Given the description of an element on the screen output the (x, y) to click on. 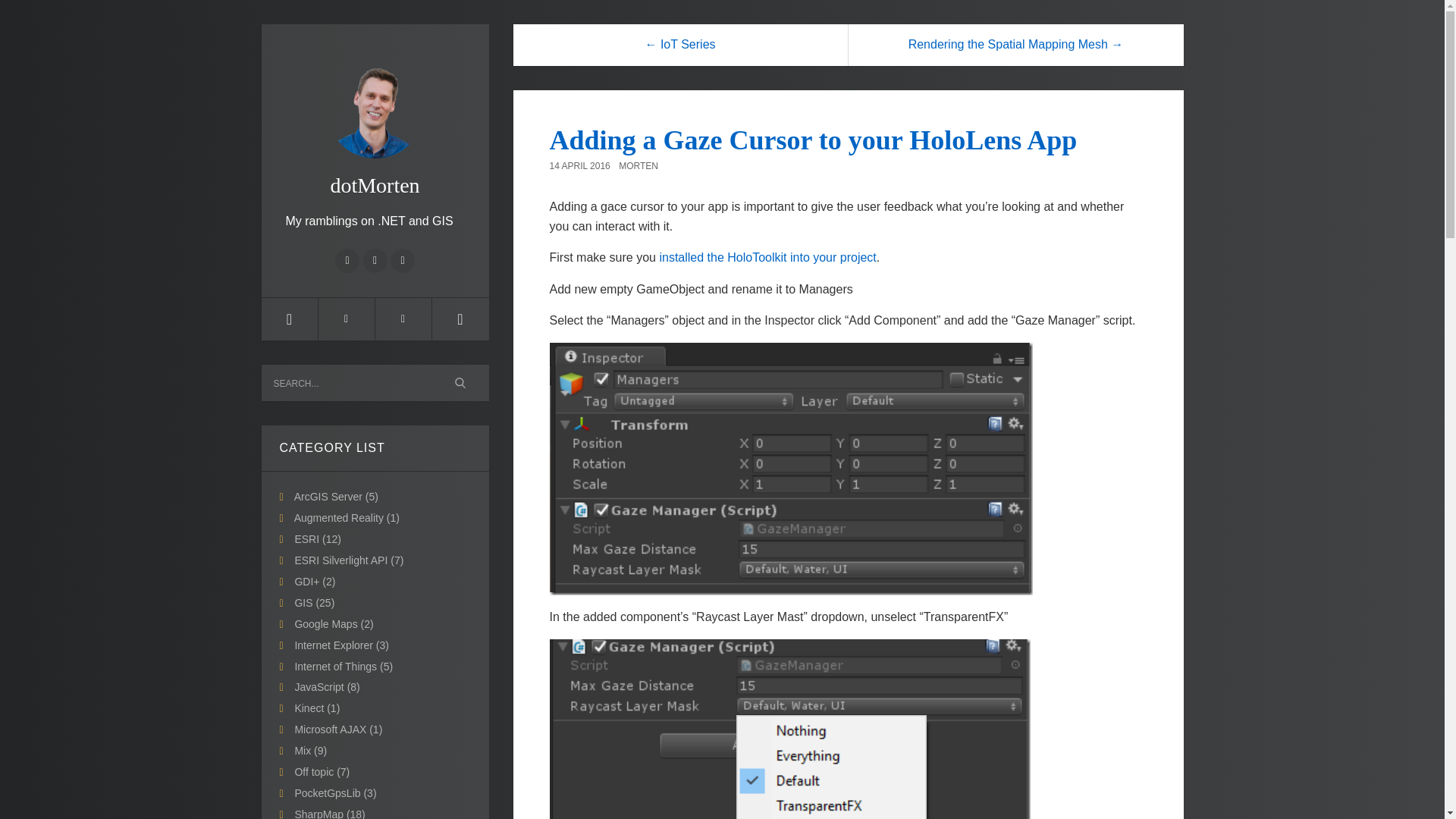
dotMorten (373, 118)
Search (460, 382)
Category: ArcGIS Server (336, 496)
Category: ESRI (317, 539)
Category: Augmented Reality (346, 517)
